Given the description of an element on the screen output the (x, y) to click on. 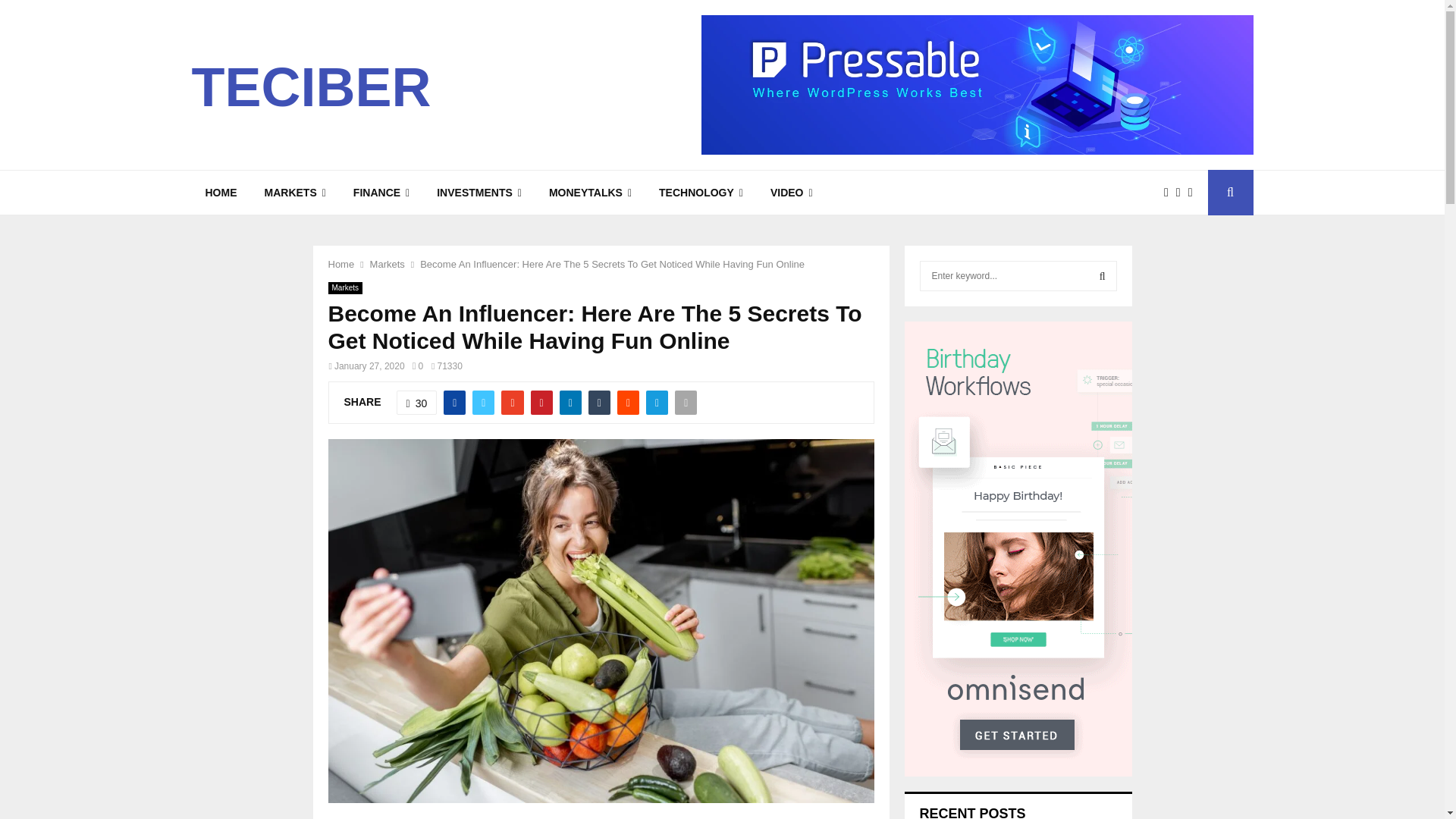
MARKETS (294, 192)
FINANCE (381, 192)
TECIBER (310, 86)
HOME (220, 192)
